Given the description of an element on the screen output the (x, y) to click on. 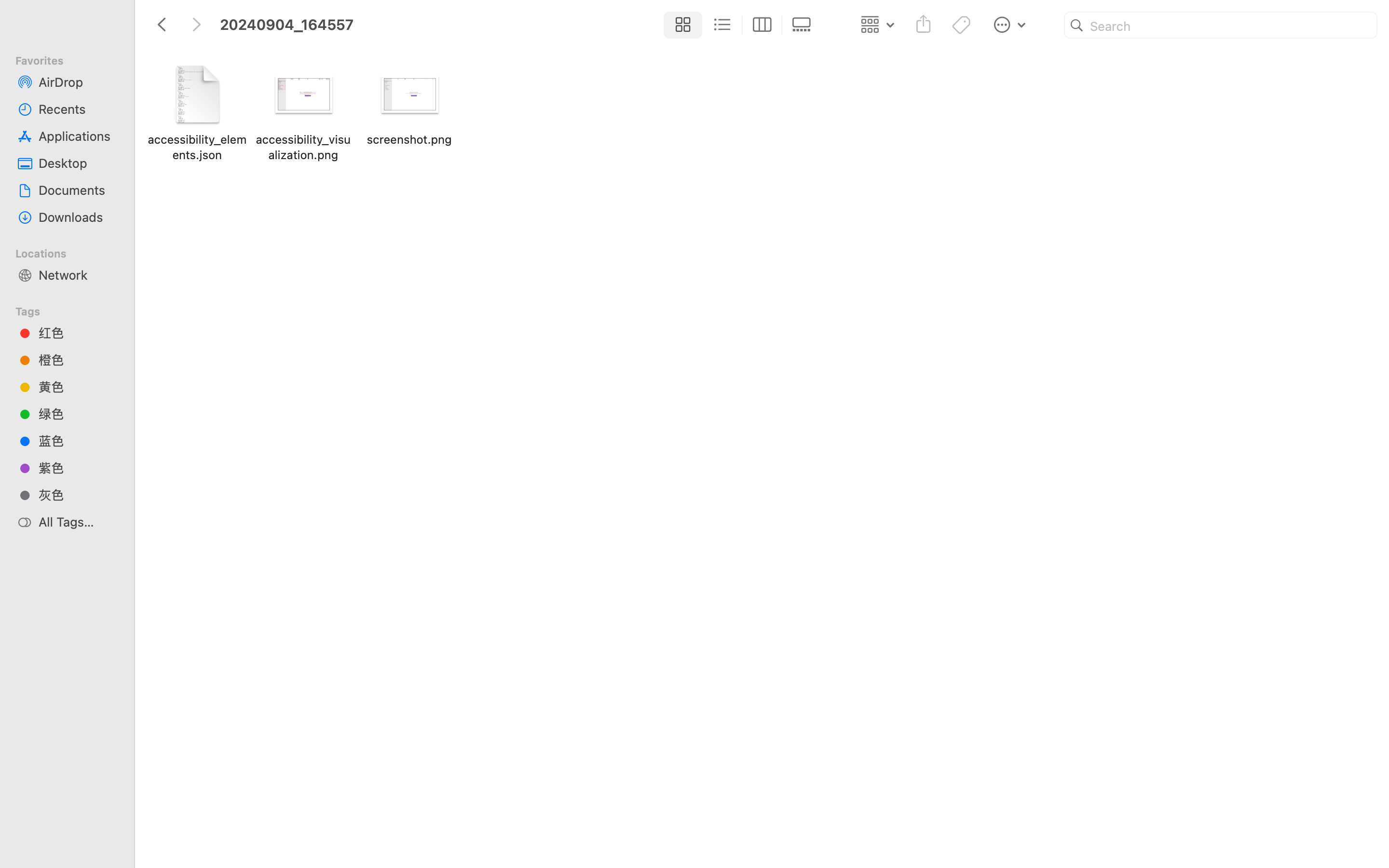
Downloads Element type: AXStaticText (77, 216)
Recents Element type: AXStaticText (77, 108)
All Tags… Element type: AXStaticText (77, 521)
Locations Element type: AXStaticText (72, 252)
黄色 Element type: AXStaticText (77, 386)
